Given the description of an element on the screen output the (x, y) to click on. 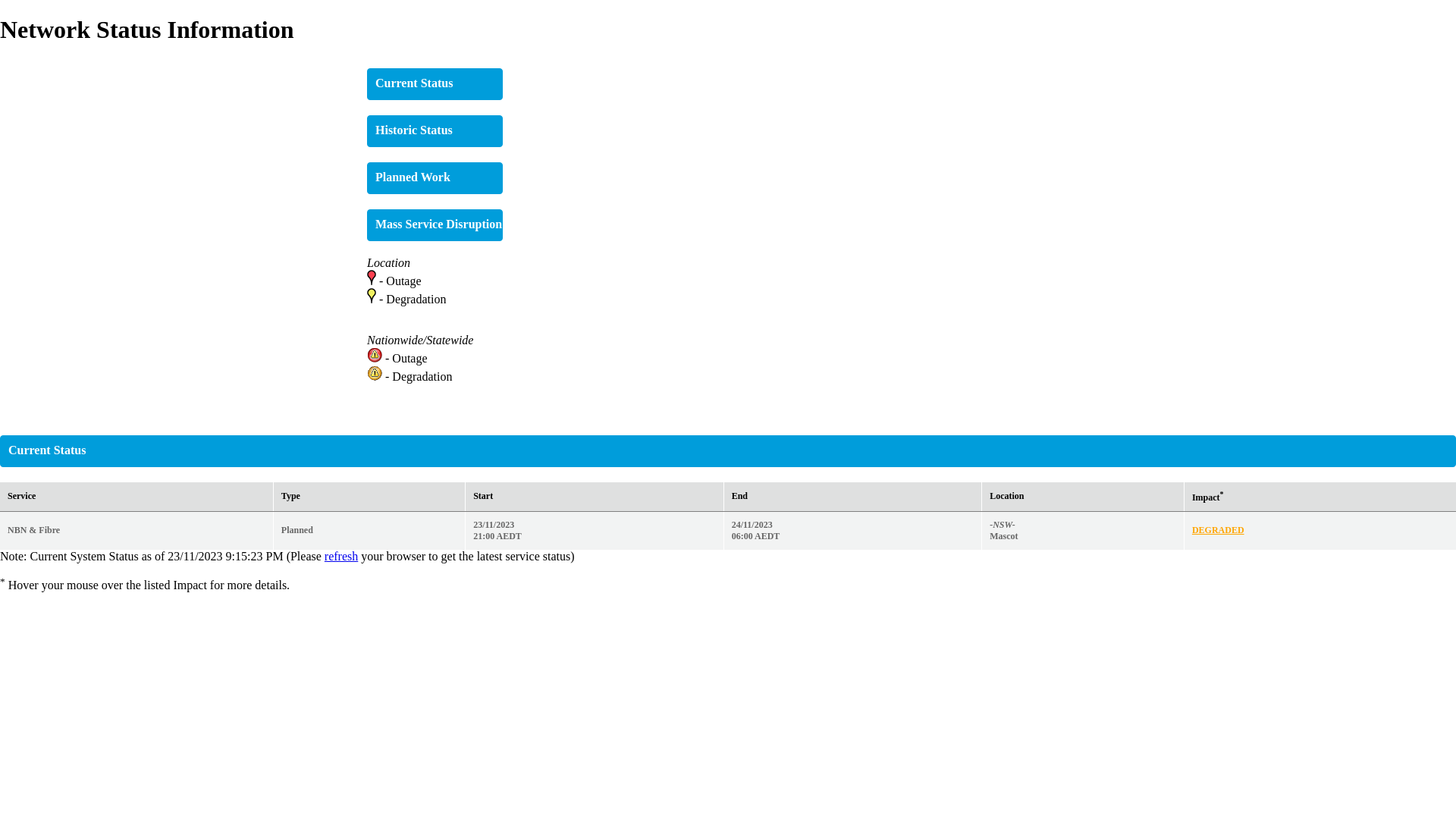
Current Status Element type: text (409, 81)
Degradation Element type: text (421, 376)
Mass Service Disruption Element type: text (434, 225)
Degradation Element type: text (415, 298)
Outage Element type: text (402, 280)
Outage Element type: text (409, 357)
Planned Work Element type: text (408, 175)
refresh Element type: text (340, 555)
Historic Status Element type: text (409, 128)
